Given the description of an element on the screen output the (x, y) to click on. 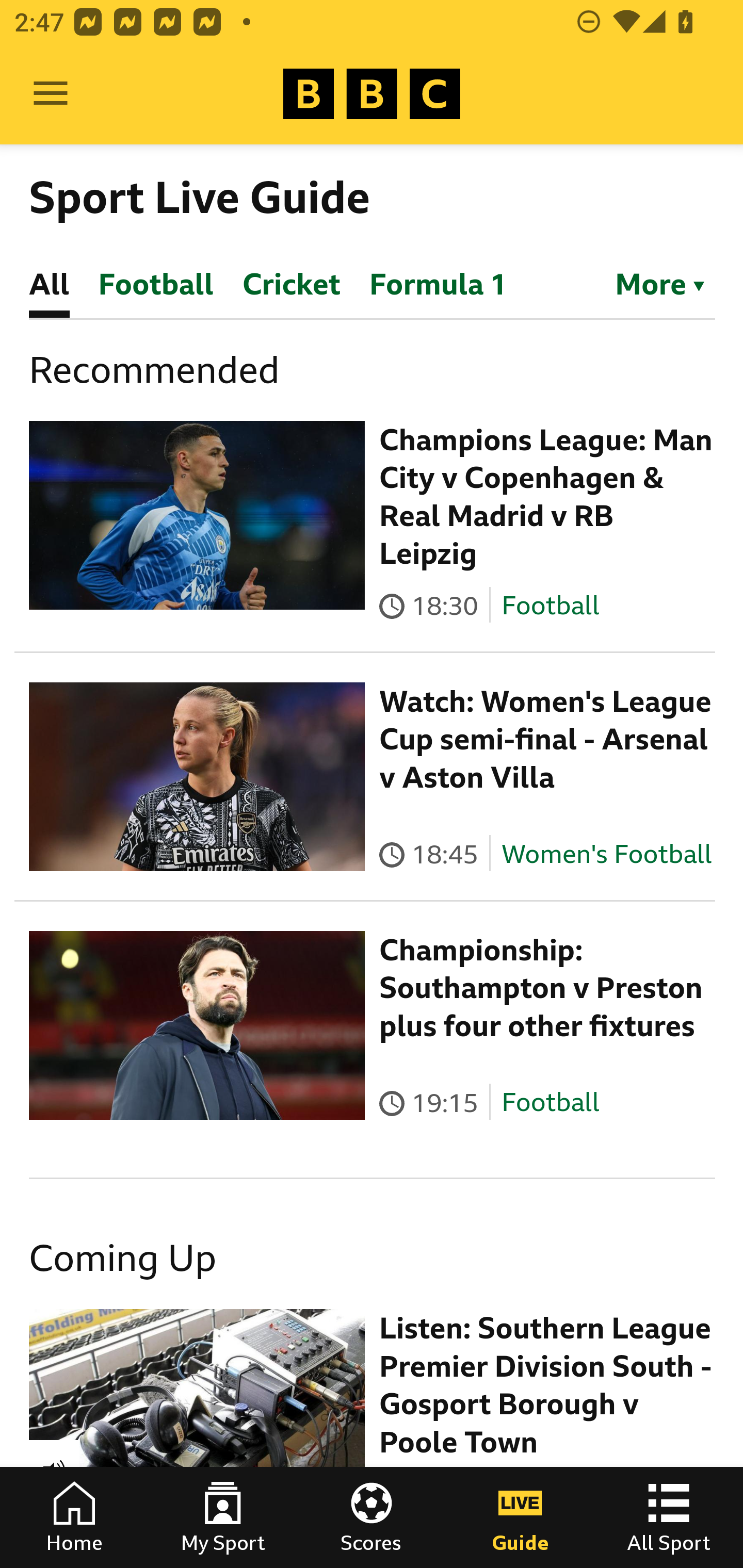
Open Menu (50, 93)
Football (550, 604)
Women's Football (606, 853)
Football (550, 1102)
Home (74, 1517)
My Sport (222, 1517)
Scores (371, 1517)
All Sport (668, 1517)
